Given the description of an element on the screen output the (x, y) to click on. 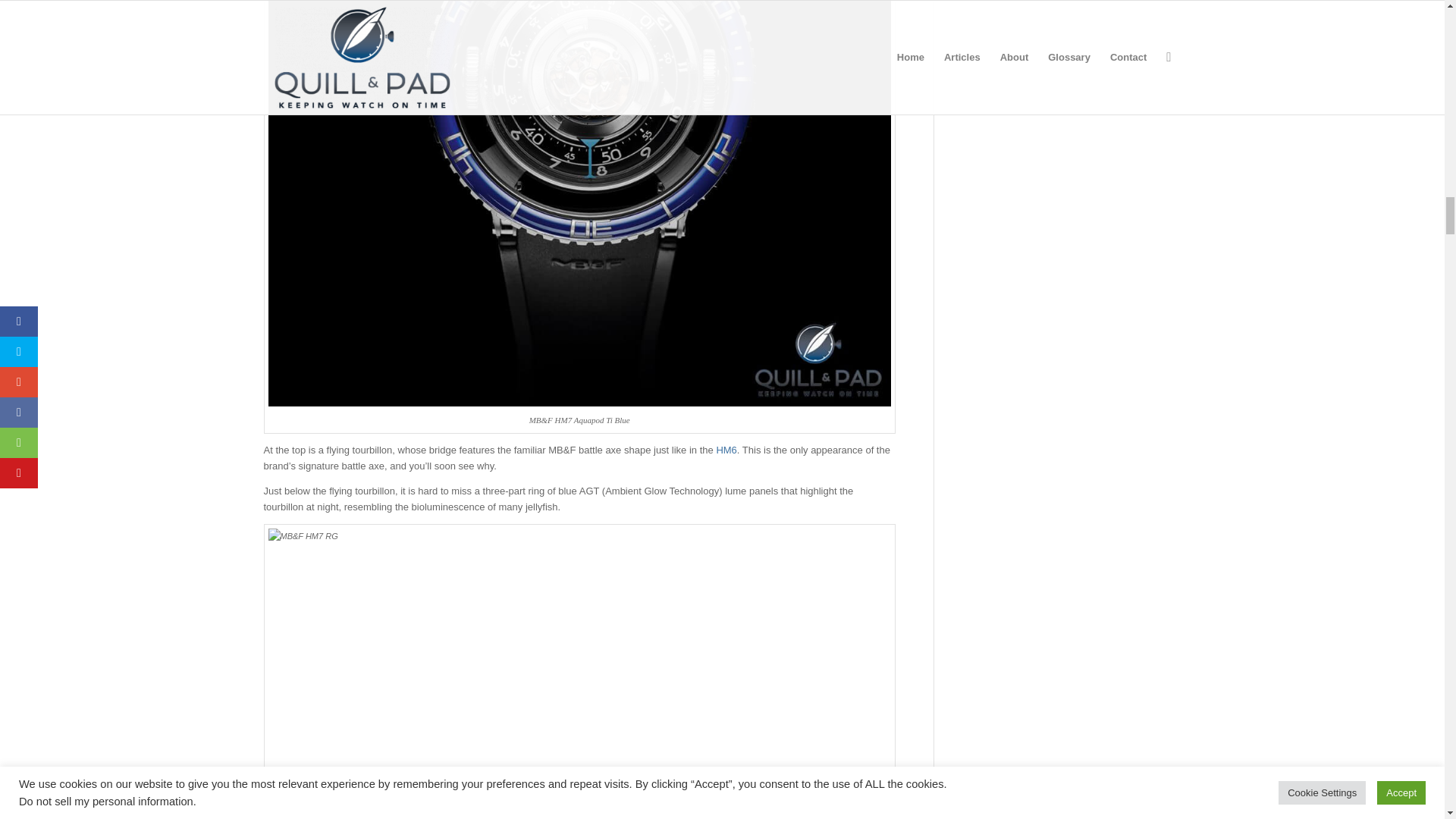
HM6 (726, 449)
